Given the description of an element on the screen output the (x, y) to click on. 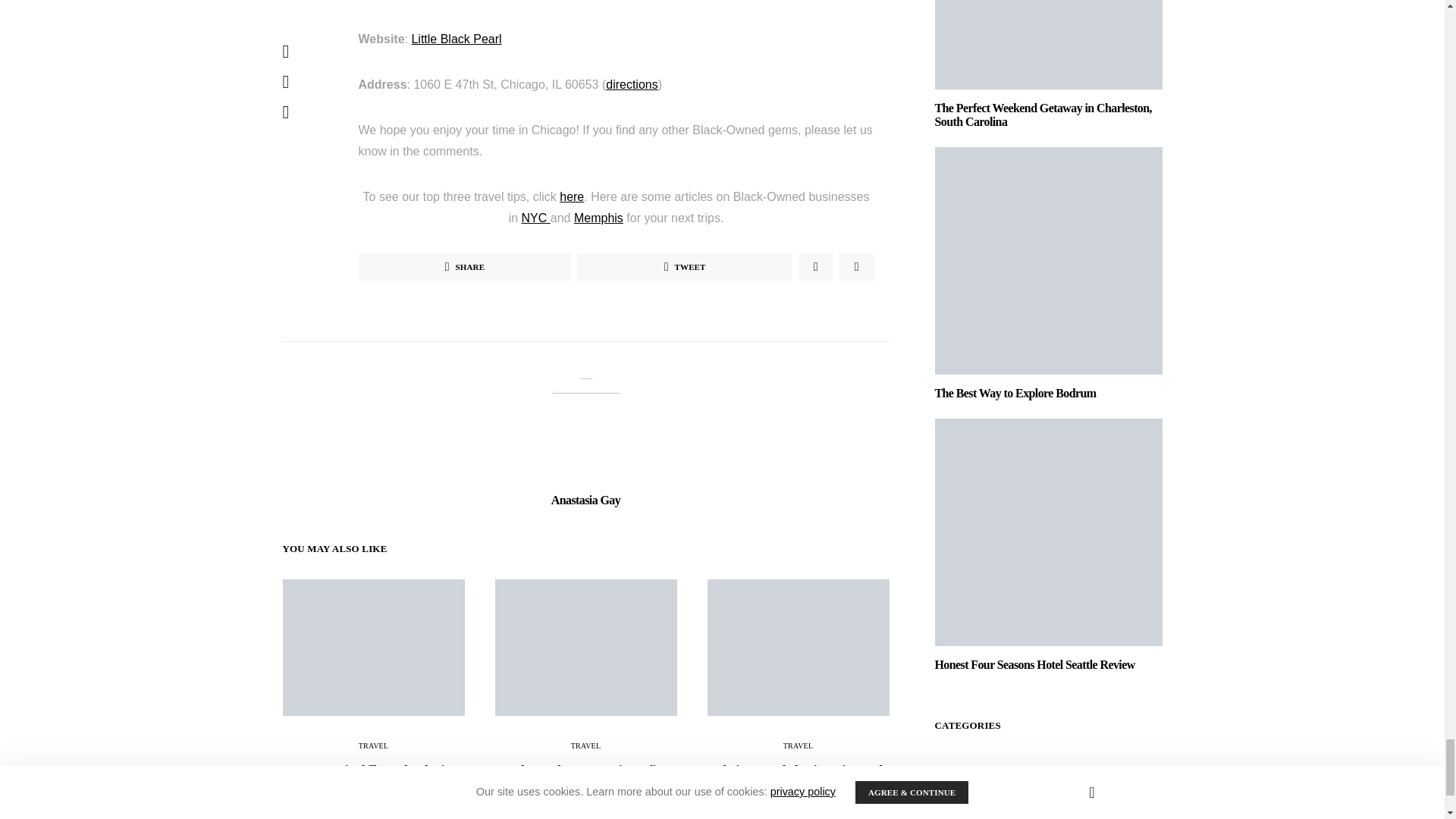
View all posts by Martina Johnson (330, 795)
View all posts by Martina Johnson (544, 808)
View all posts by Martina Johnson (766, 808)
